Given the description of an element on the screen output the (x, y) to click on. 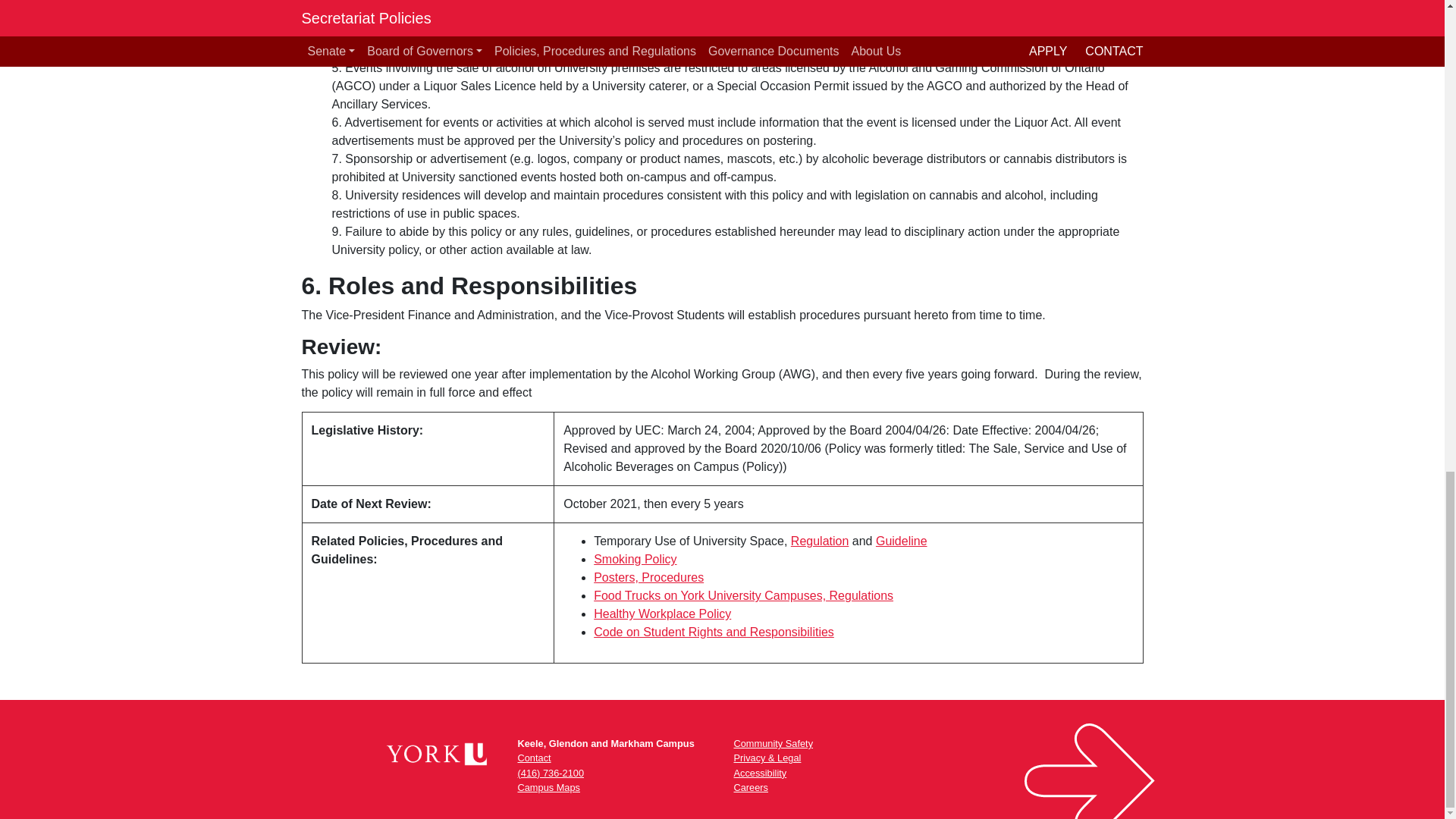
Guideline (901, 540)
Smoking Policy (635, 558)
Regulation (819, 540)
